Given the description of an element on the screen output the (x, y) to click on. 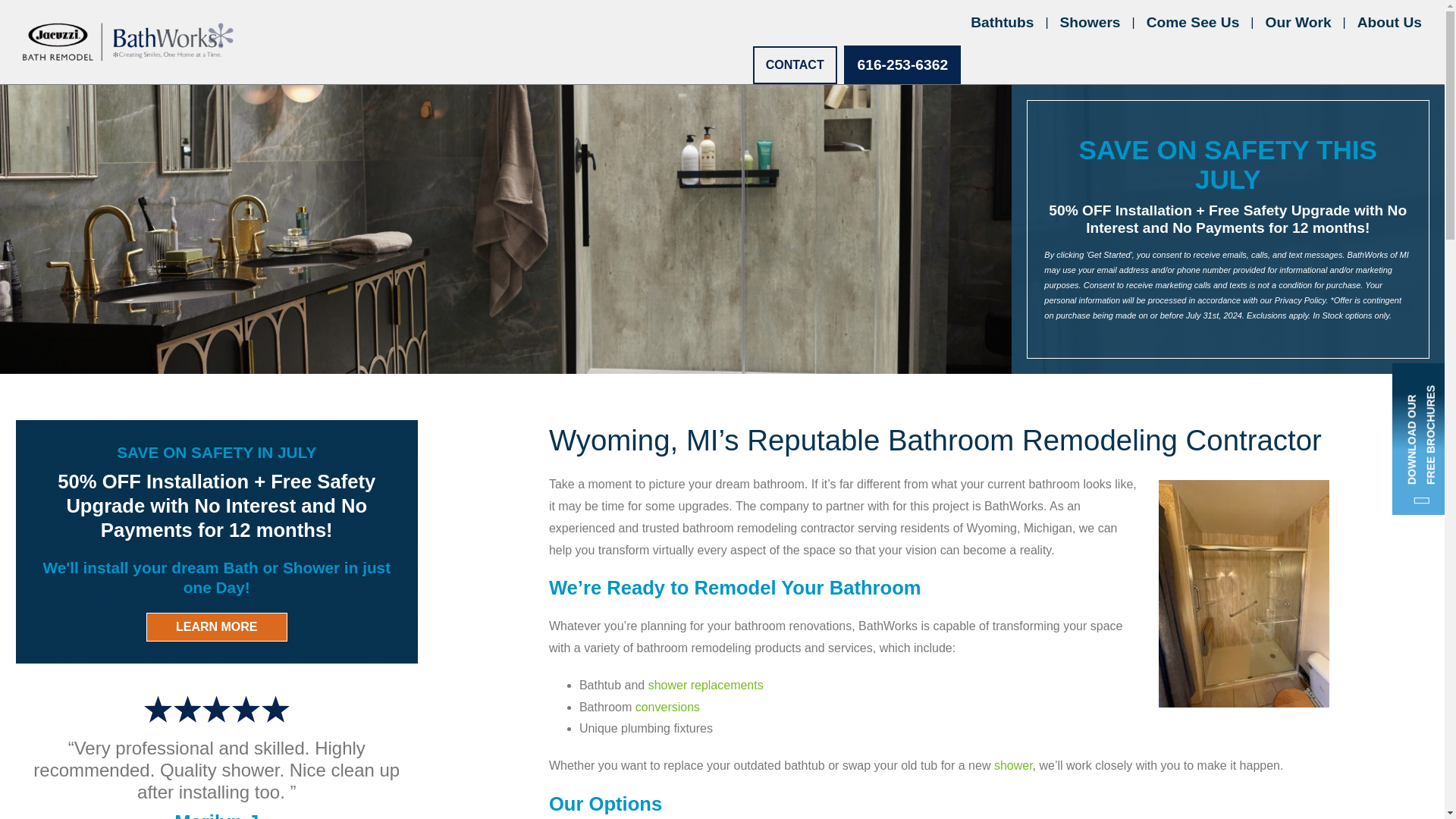
About Us (1388, 22)
CONTACT (794, 64)
Our Work (1297, 22)
616-253-6362 (902, 64)
LEARN MORE (216, 626)
conversions (667, 707)
shower replacements (703, 684)
Bathtubs (1002, 22)
Come See Us (1192, 22)
BathWorks Michigan (127, 42)
Showers (1090, 22)
shower (1013, 765)
